Given the description of an element on the screen output the (x, y) to click on. 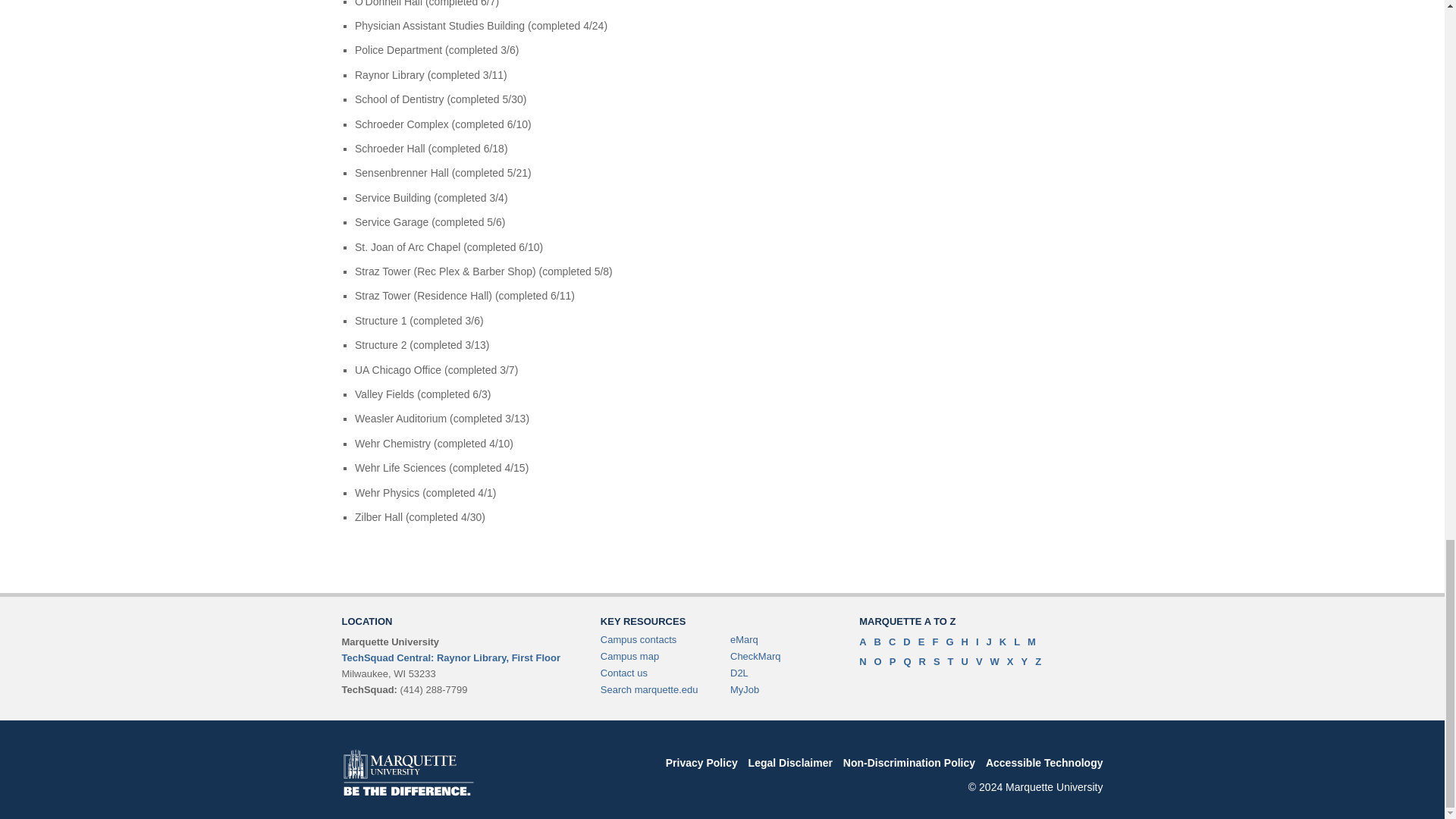
CheckMarq (755, 655)
Search marquette.edu (648, 689)
D2L (739, 672)
Campus map (629, 655)
eMarq (744, 639)
Contact us (623, 672)
TechSquad Central: Raynor Library, First Floor (449, 657)
Campus contacts (638, 639)
MyJob (744, 689)
